Given the description of an element on the screen output the (x, y) to click on. 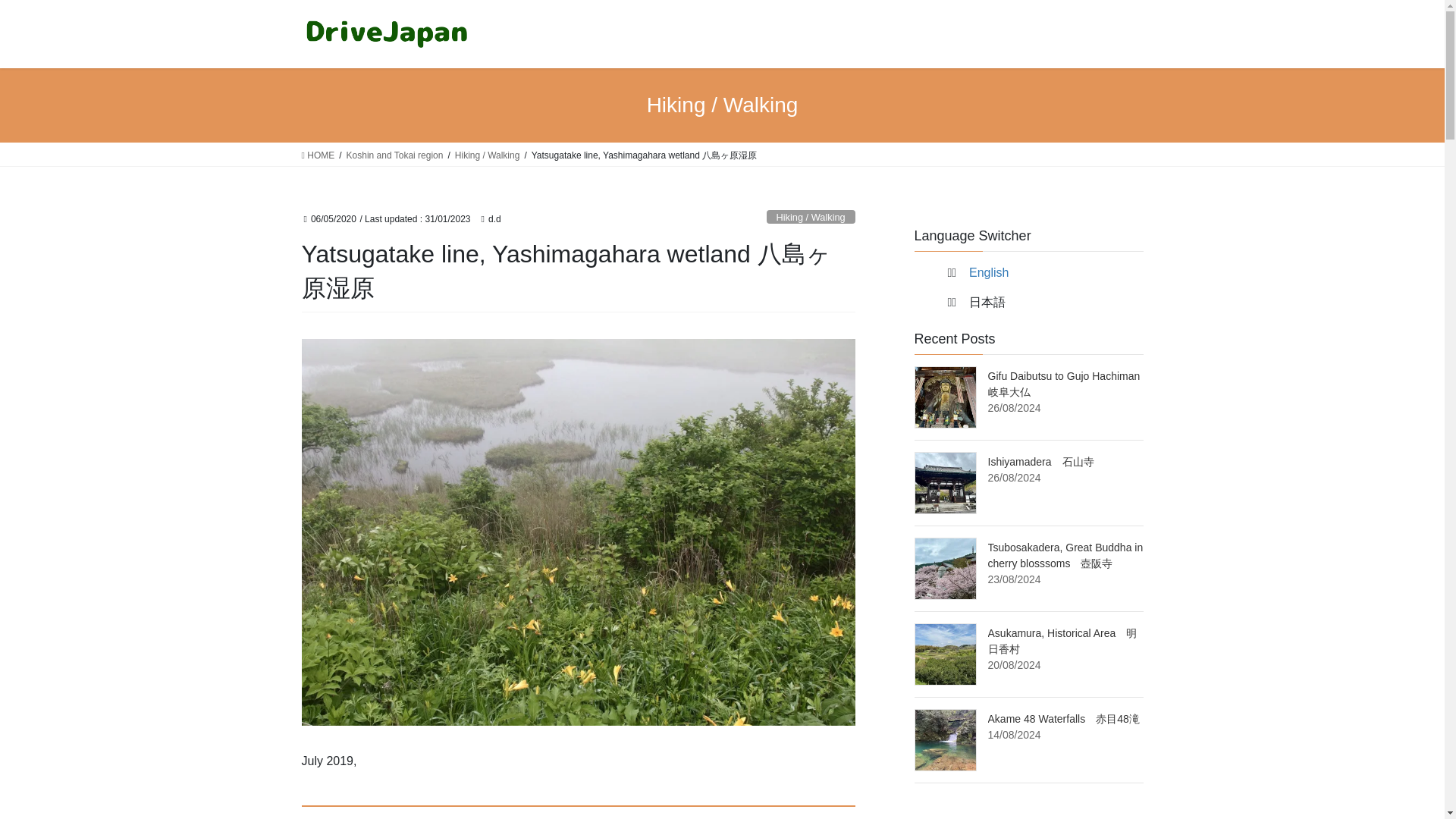
HOME (317, 155)
Koshin and Tokai region (395, 155)
English (989, 272)
